Given the description of an element on the screen output the (x, y) to click on. 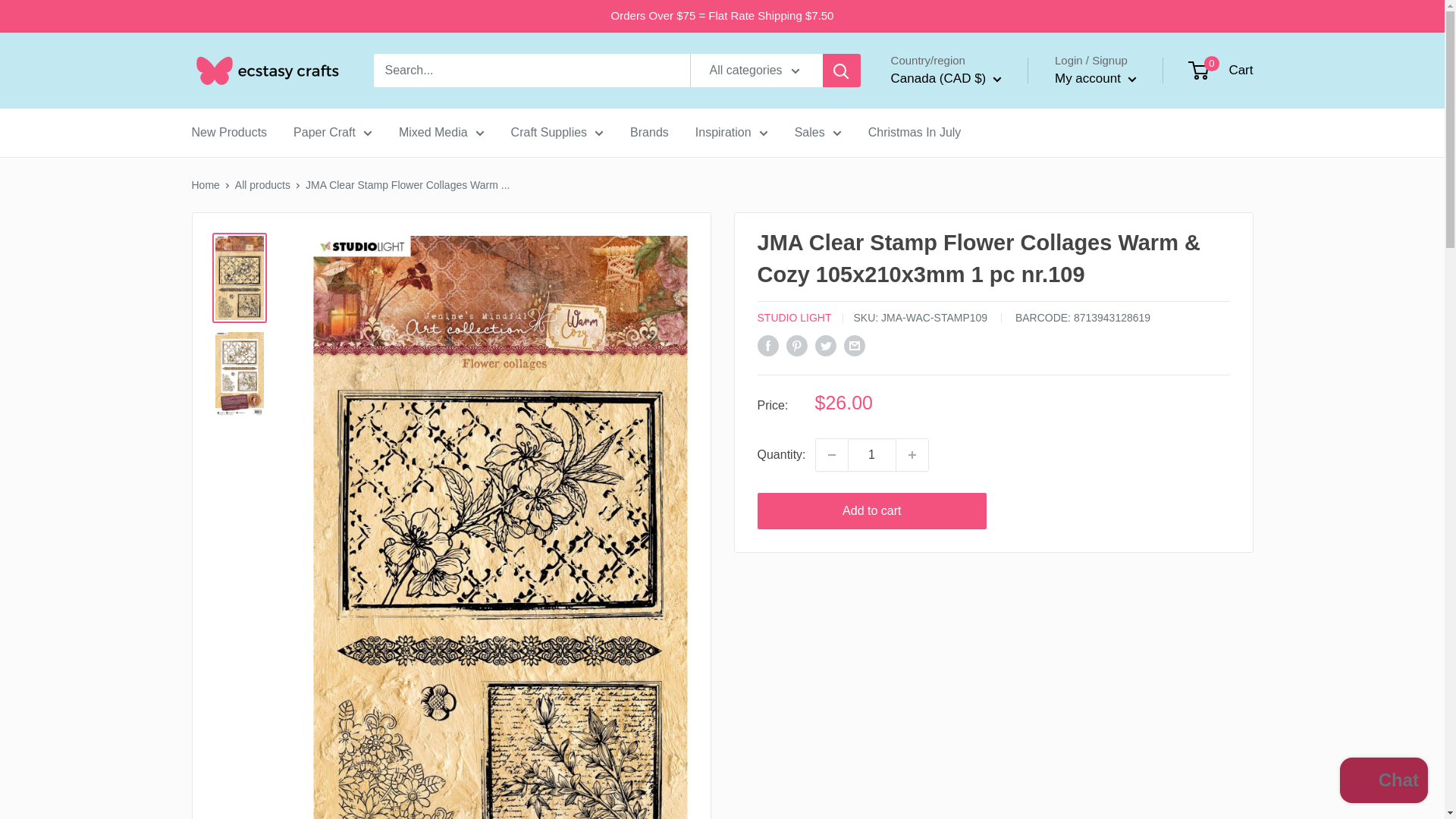
Decrease quantity by 1 (831, 454)
1 (871, 454)
Increase quantity by 1 (912, 454)
Shopify online store chat (1383, 781)
